Given the description of an element on the screen output the (x, y) to click on. 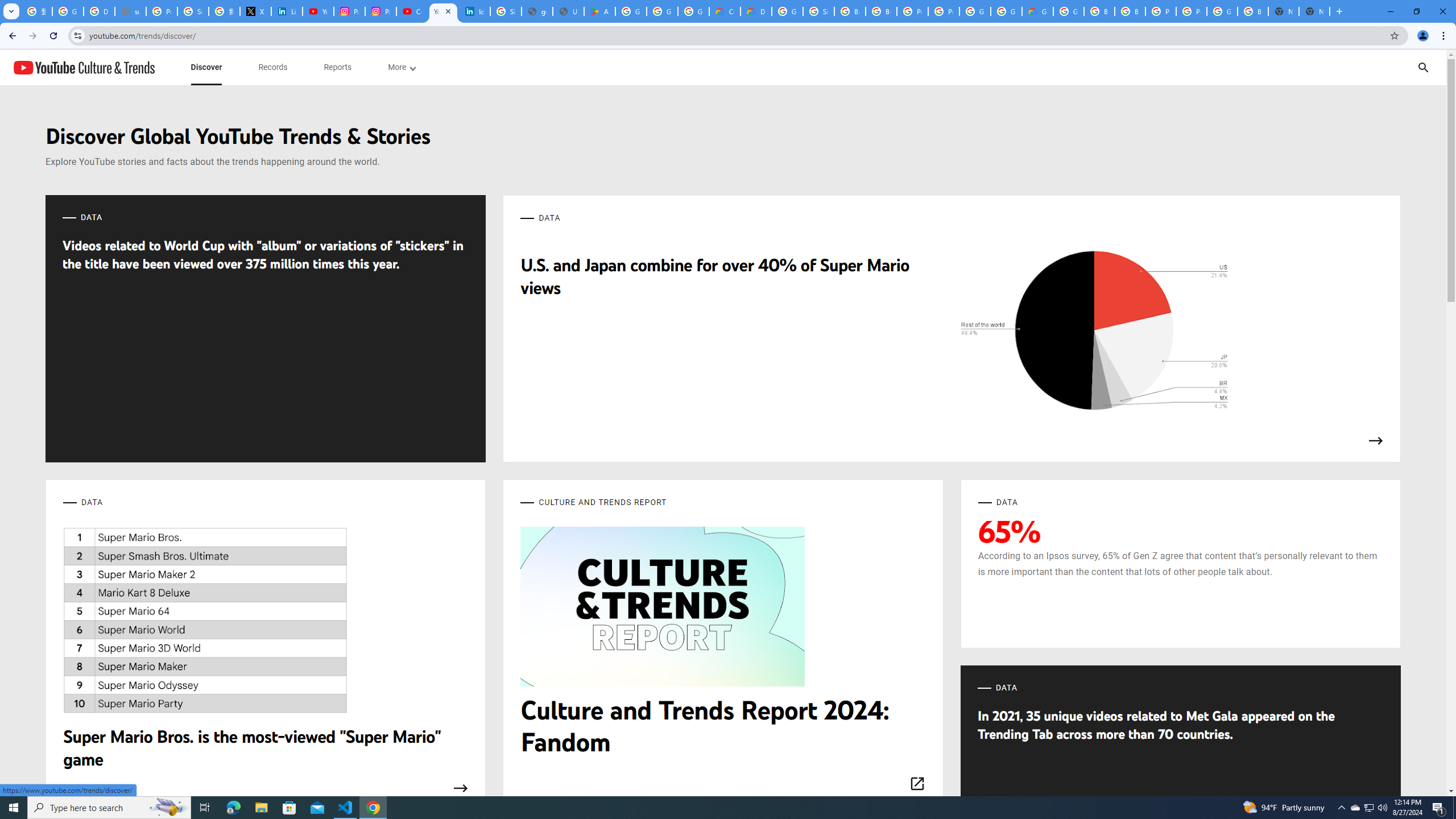
Browse Chrome as a guest - Computer - Google Chrome Help (881, 11)
Google Workspace - Specific Terms (693, 11)
Privacy Help Center - Policies Help (161, 11)
